Given the description of an element on the screen output the (x, y) to click on. 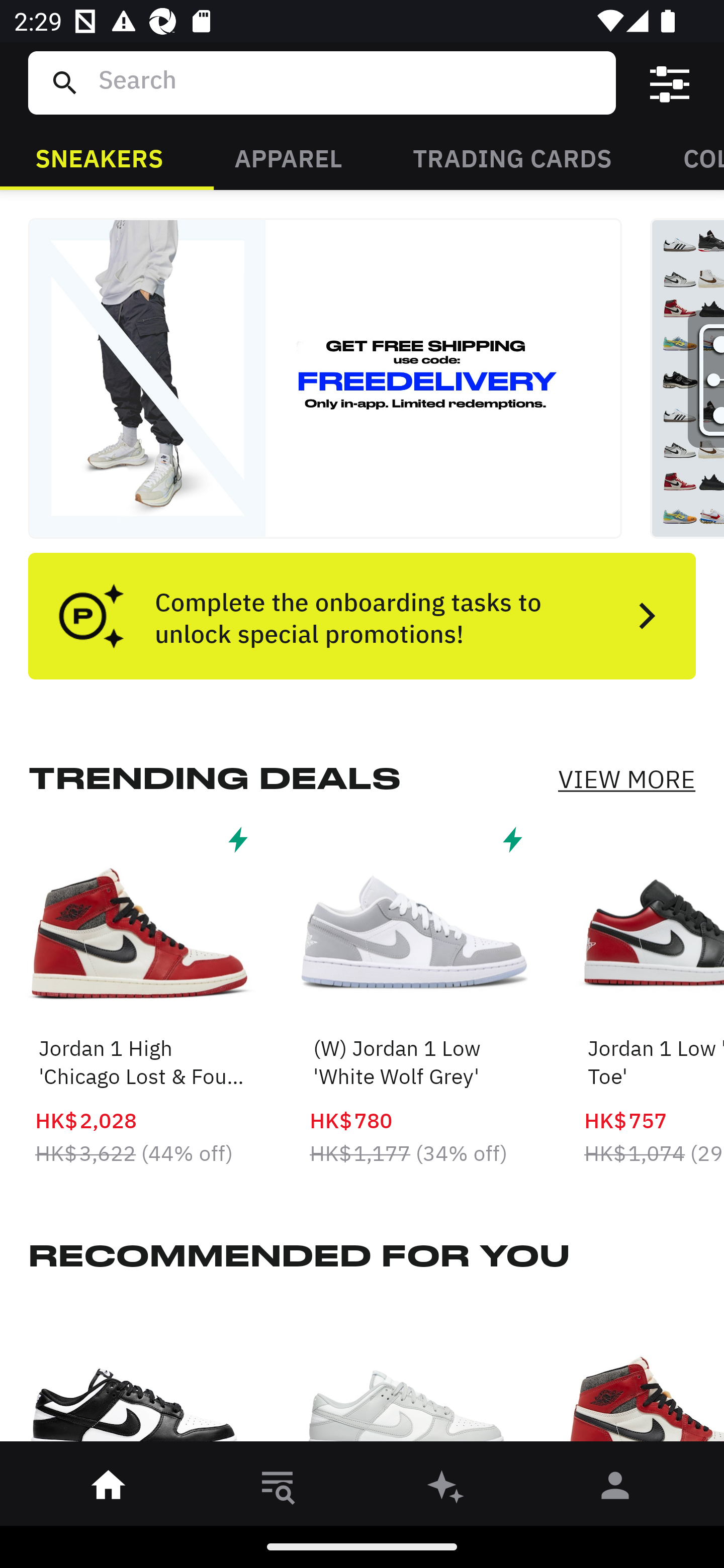
Search (349, 82)
 (669, 82)
SNEAKERS (99, 156)
APPAREL (287, 156)
TRADING CARDS (512, 156)
VIEW MORE (626, 779)
󰋜 (108, 1488)
󱎸 (277, 1488)
󰫢 (446, 1488)
󰀄 (615, 1488)
